Given the description of an element on the screen output the (x, y) to click on. 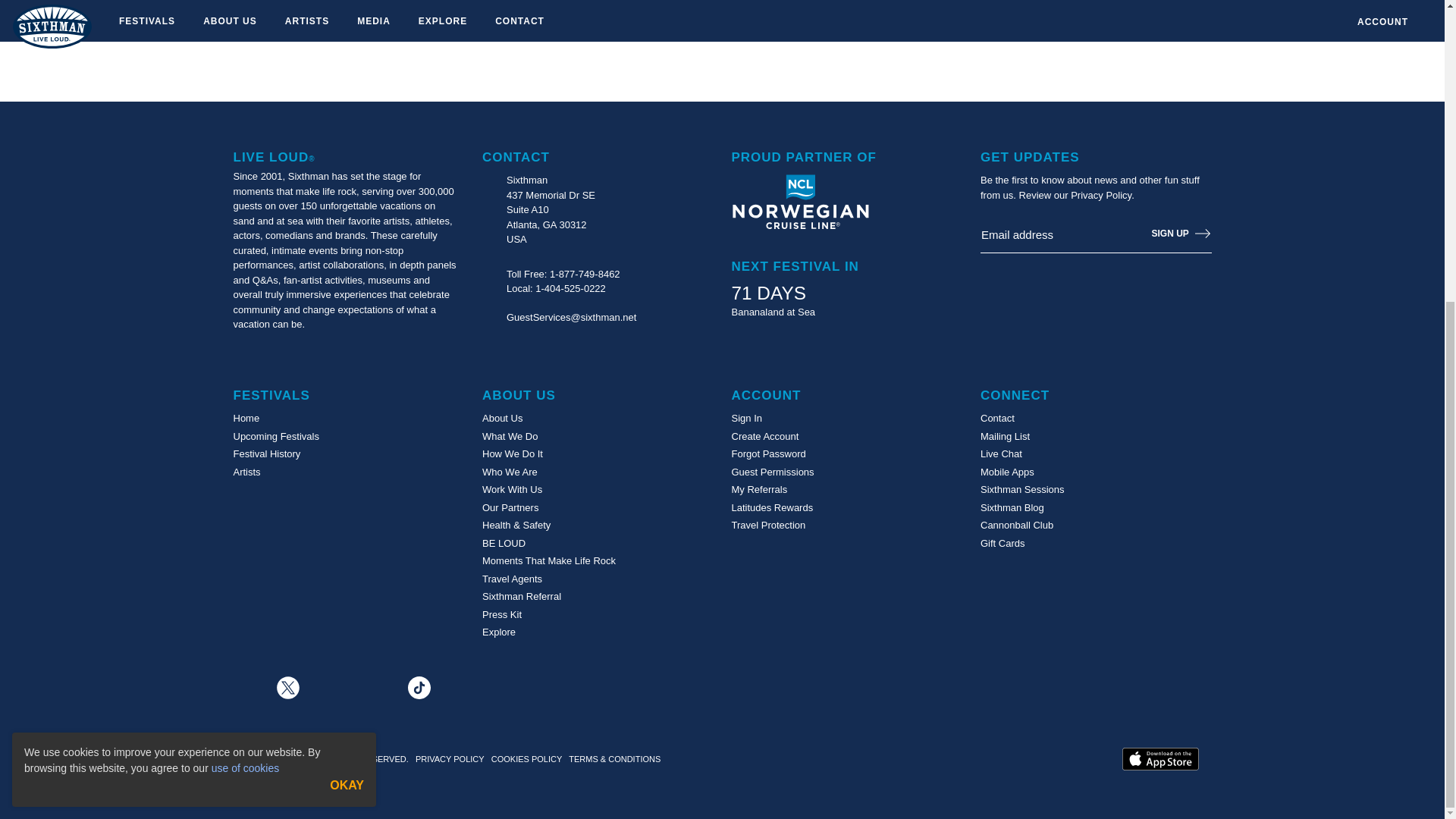
Bananaland at Sea (772, 311)
YouTube (462, 686)
Download iPhone App (1160, 758)
Facebook (244, 687)
Facebook (244, 686)
Spotify (331, 686)
X (289, 686)
TikTok (420, 686)
Instagram (375, 687)
Norwegian Cruise Line (799, 201)
Spotify (331, 687)
Instagram (375, 686)
YouTube (462, 687)
